Given the description of an element on the screen output the (x, y) to click on. 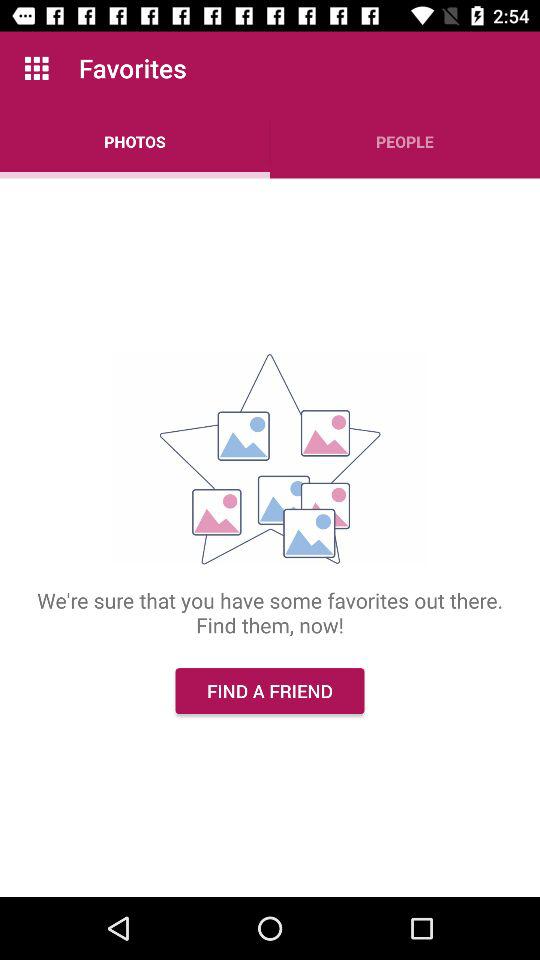
press the people at the top right corner (405, 141)
